Given the description of an element on the screen output the (x, y) to click on. 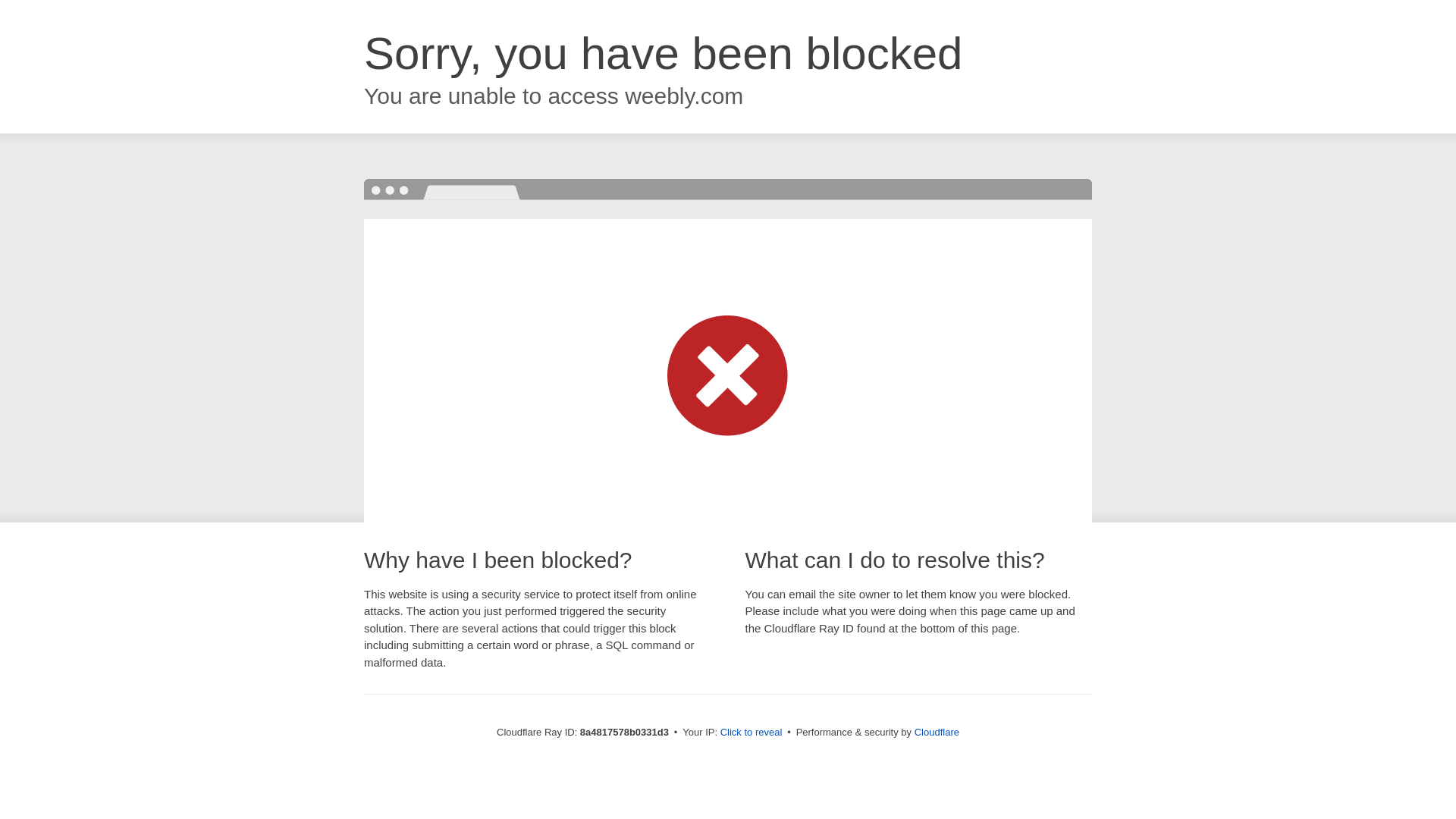
Cloudflare (936, 731)
Click to reveal (751, 732)
